Given the description of an element on the screen output the (x, y) to click on. 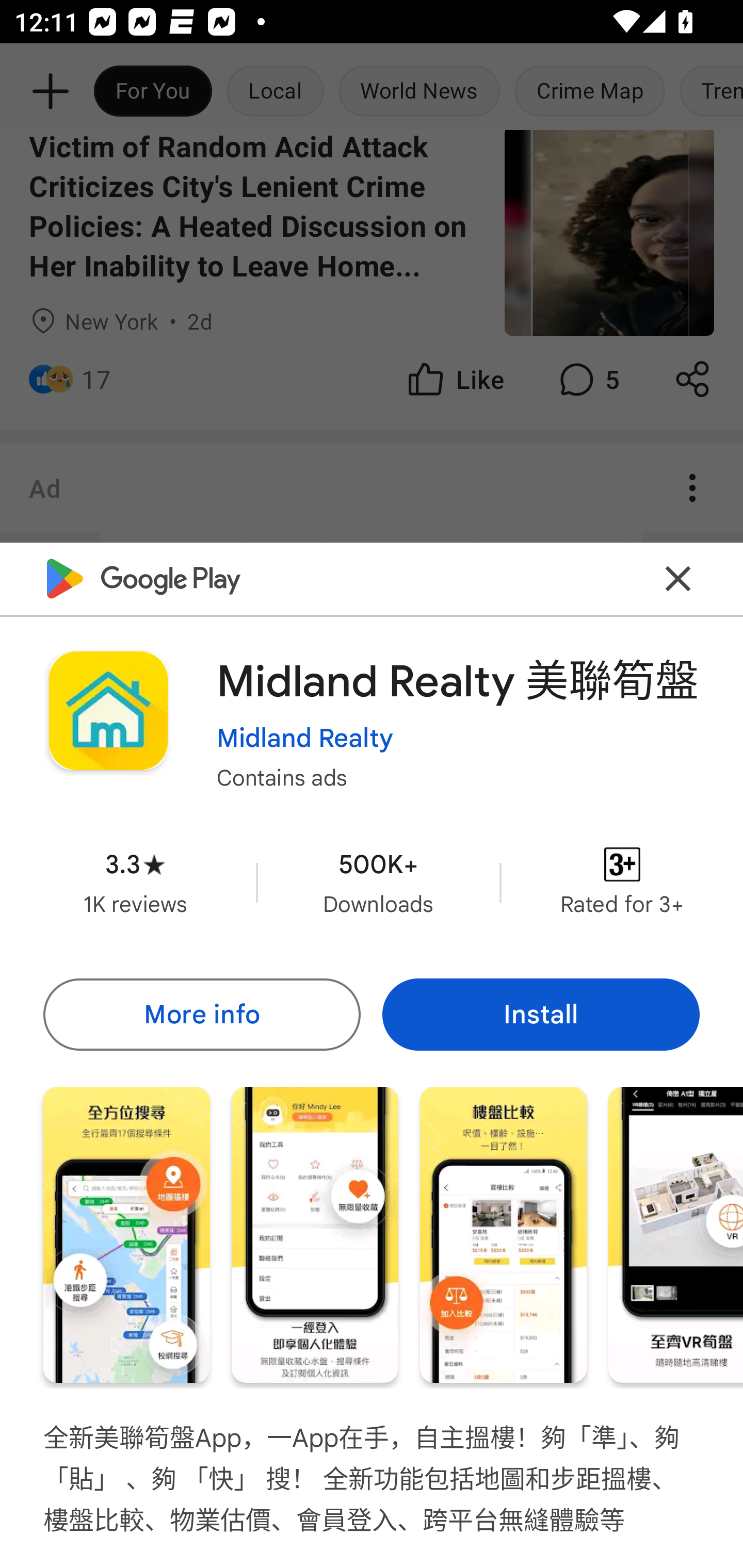
Close (677, 578)
Image of app or game icon for Midland Realty 美聯筍盤 (108, 711)
Midland Realty (304, 737)
More info (201, 1014)
Install (540, 1014)
Screenshot "1" of "7" (126, 1234)
Screenshot "2" of "7" (314, 1234)
Screenshot "3" of "7" (502, 1234)
Screenshot "4" of "7" (675, 1234)
